Given the description of an element on the screen output the (x, y) to click on. 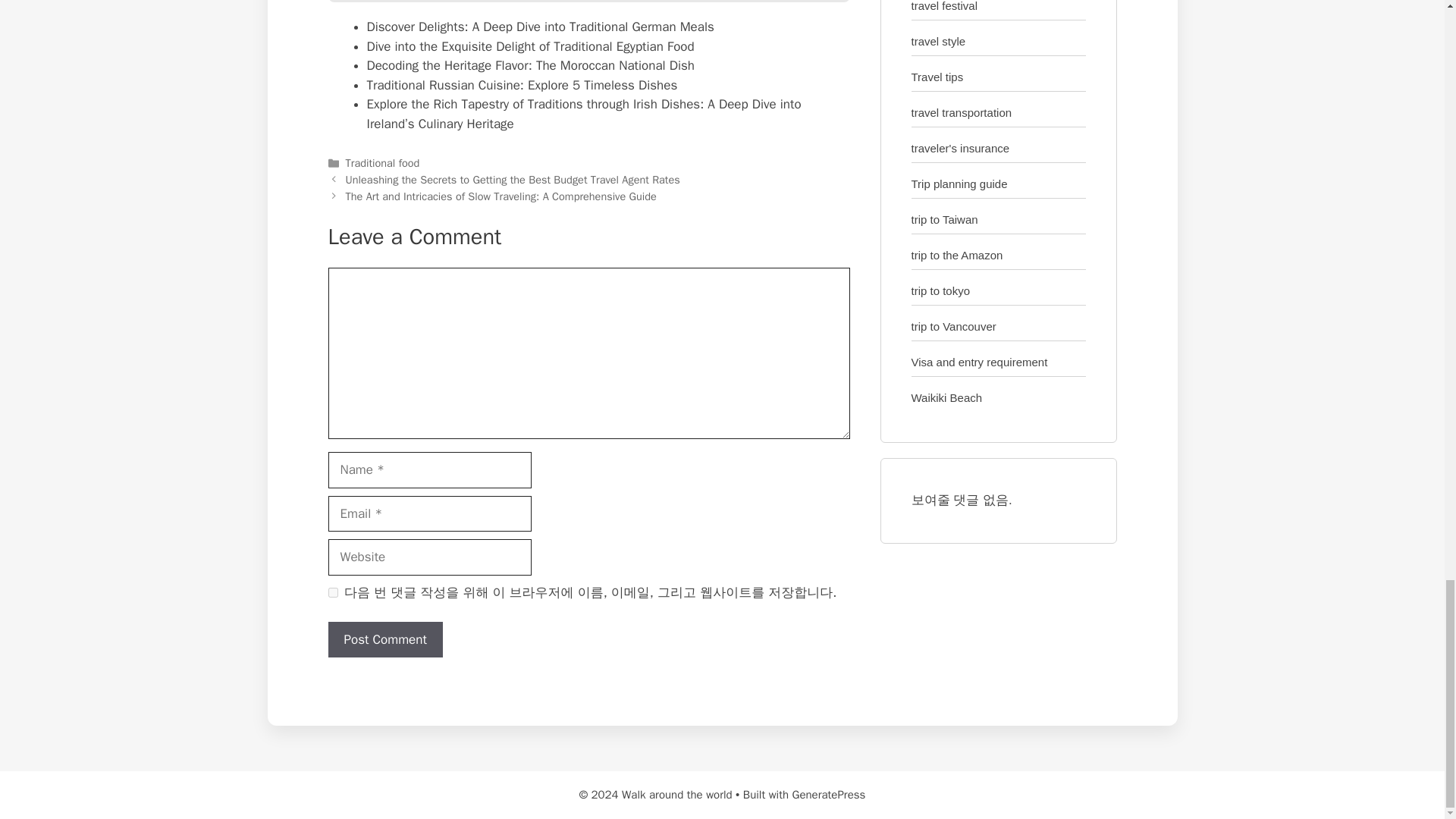
Post Comment (384, 639)
yes (332, 592)
Discover Delights: A Deep Dive into Traditional German Meals (540, 26)
Traditional Russian Cuisine: Explore 5 Timeless Dishes (522, 84)
Post Comment (384, 639)
Dive into the Exquisite Delight of Traditional Egyptian Food (530, 46)
Traditional food (383, 162)
Decoding the Heritage Flavor: The Moroccan National Dish (530, 65)
